Given the description of an element on the screen output the (x, y) to click on. 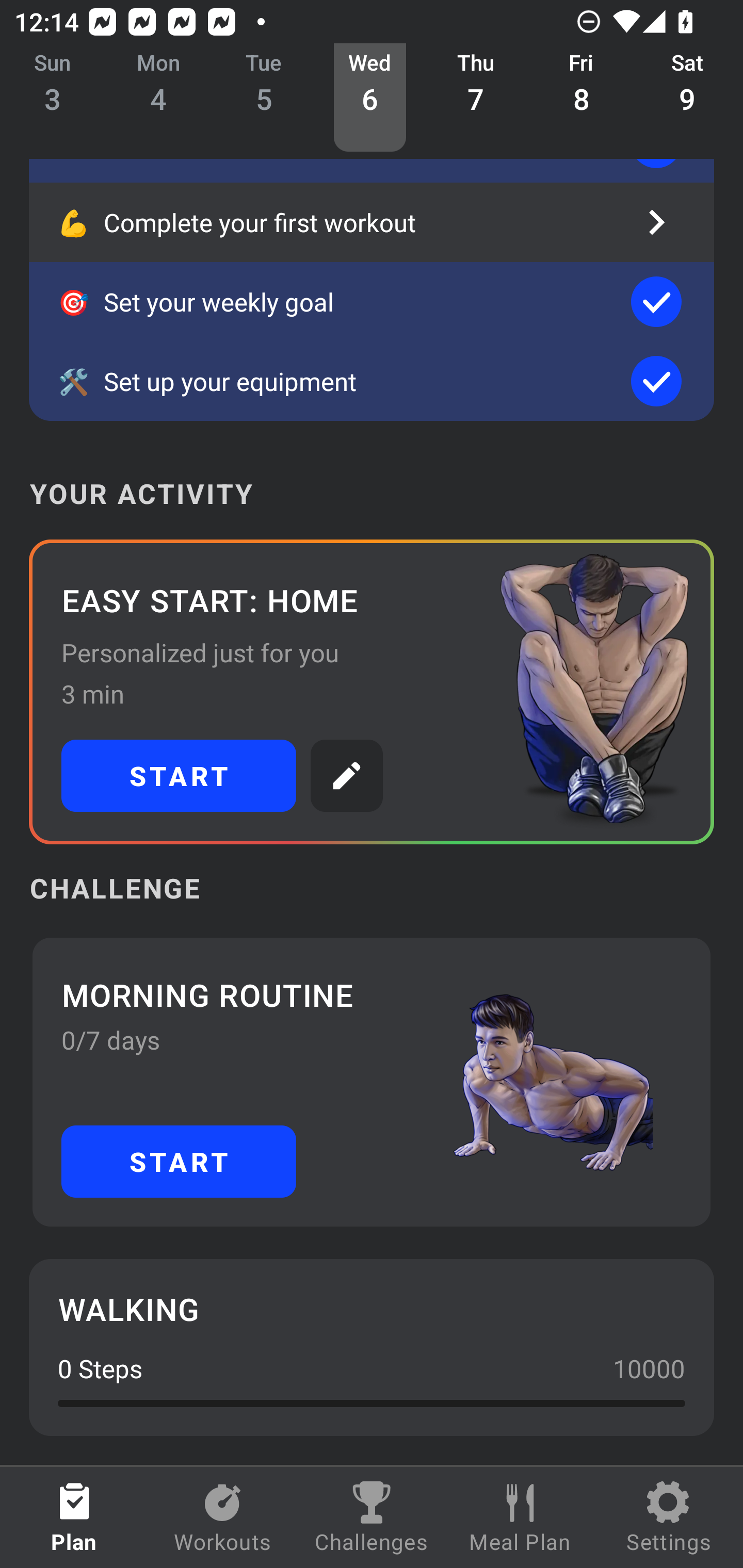
Sun 3 (52, 97)
Mon 4 (158, 97)
Tue 5 (264, 97)
Wed 6 (369, 97)
Thu 7 (475, 97)
Fri 8 (581, 97)
Sat 9 (687, 97)
💪 Complete your first workout (371, 221)
START (178, 776)
MORNING ROUTINE 0/7 days START (371, 1082)
START (178, 1161)
WALKING 0 Steps 10000 0.0 (371, 1347)
 Workouts  (222, 1517)
 Challenges  (371, 1517)
 Meal Plan  (519, 1517)
 Settings  (668, 1517)
